Given the description of an element on the screen output the (x, y) to click on. 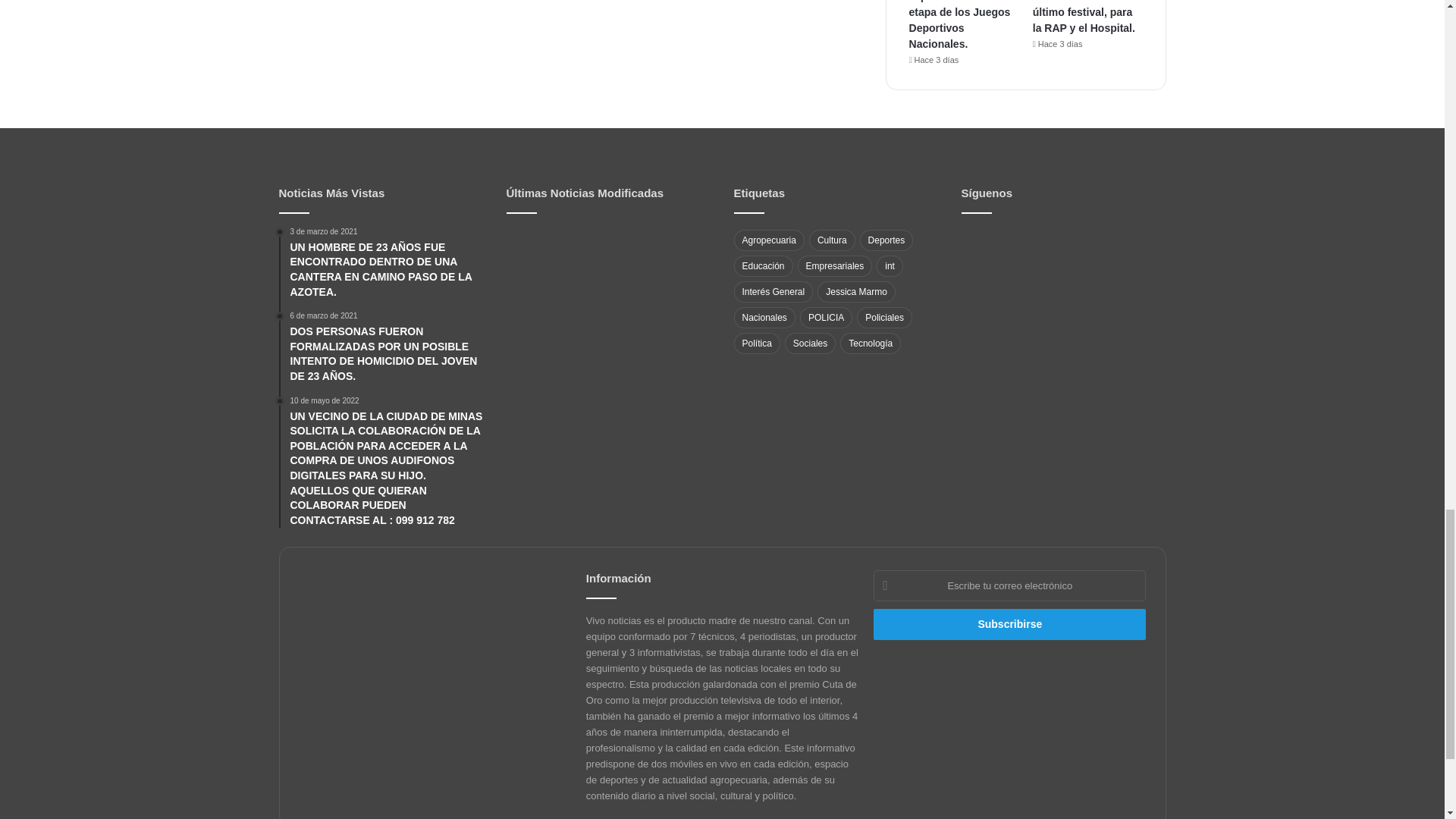
Subscribirse (1009, 624)
